Given the description of an element on the screen output the (x, y) to click on. 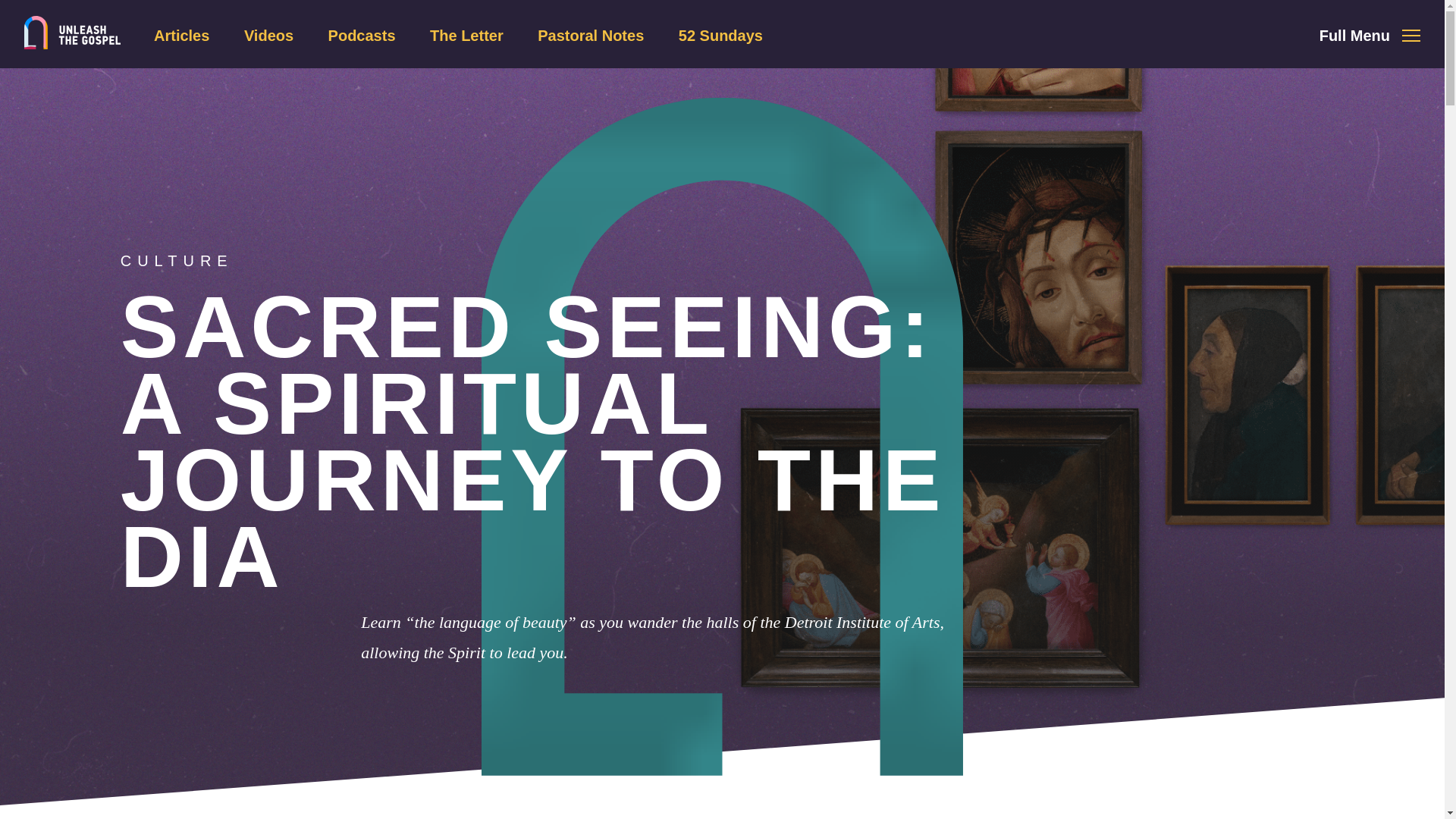
Pastoral Notes (590, 35)
UNLEASH THE GOSPEL (72, 31)
Full Menu (1370, 34)
52 Sundays (720, 35)
Videos (269, 35)
Articles (181, 35)
Podcasts (362, 35)
The Letter (466, 35)
